Given the description of an element on the screen output the (x, y) to click on. 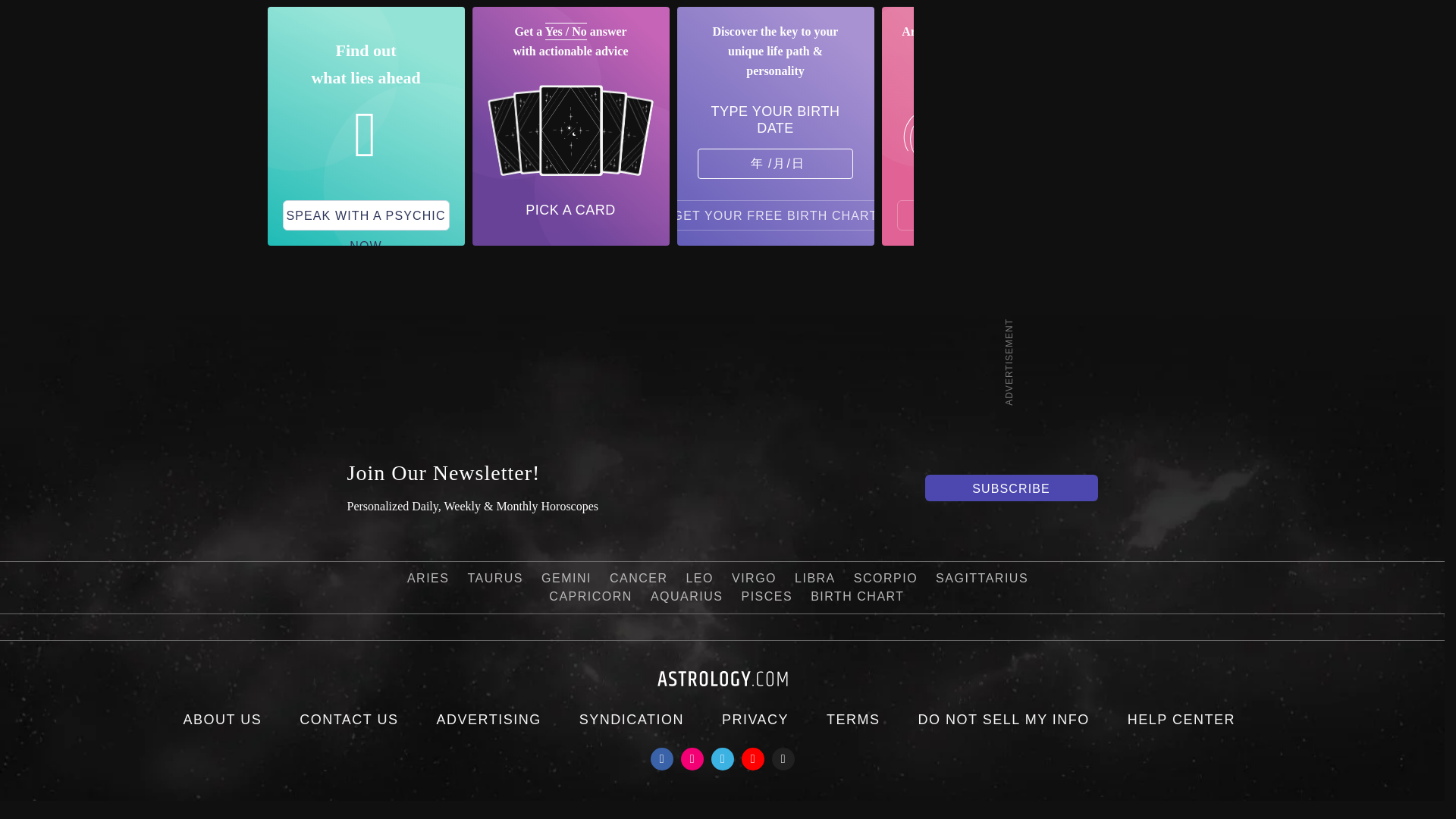
Get your free birth chart (775, 214)
